Given the description of an element on the screen output the (x, y) to click on. 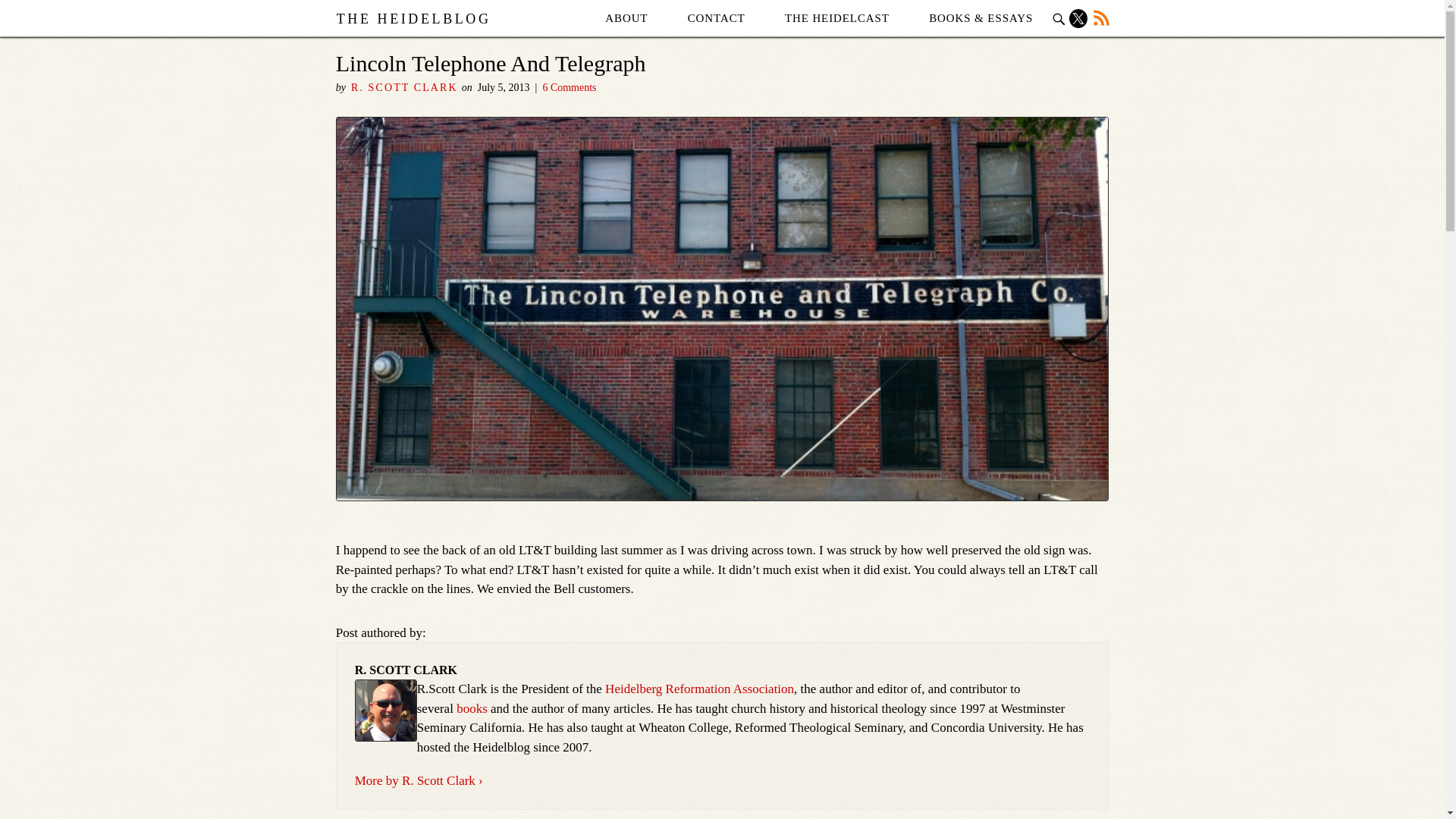
CONTACT (715, 18)
The Heidelcast (837, 18)
Heidelberg Reformation Association (699, 688)
ABOUT (625, 18)
6 Comments (568, 87)
THE HEIDELCAST (837, 18)
books (472, 708)
R. SCOTT CLARK (404, 87)
